Given the description of an element on the screen output the (x, y) to click on. 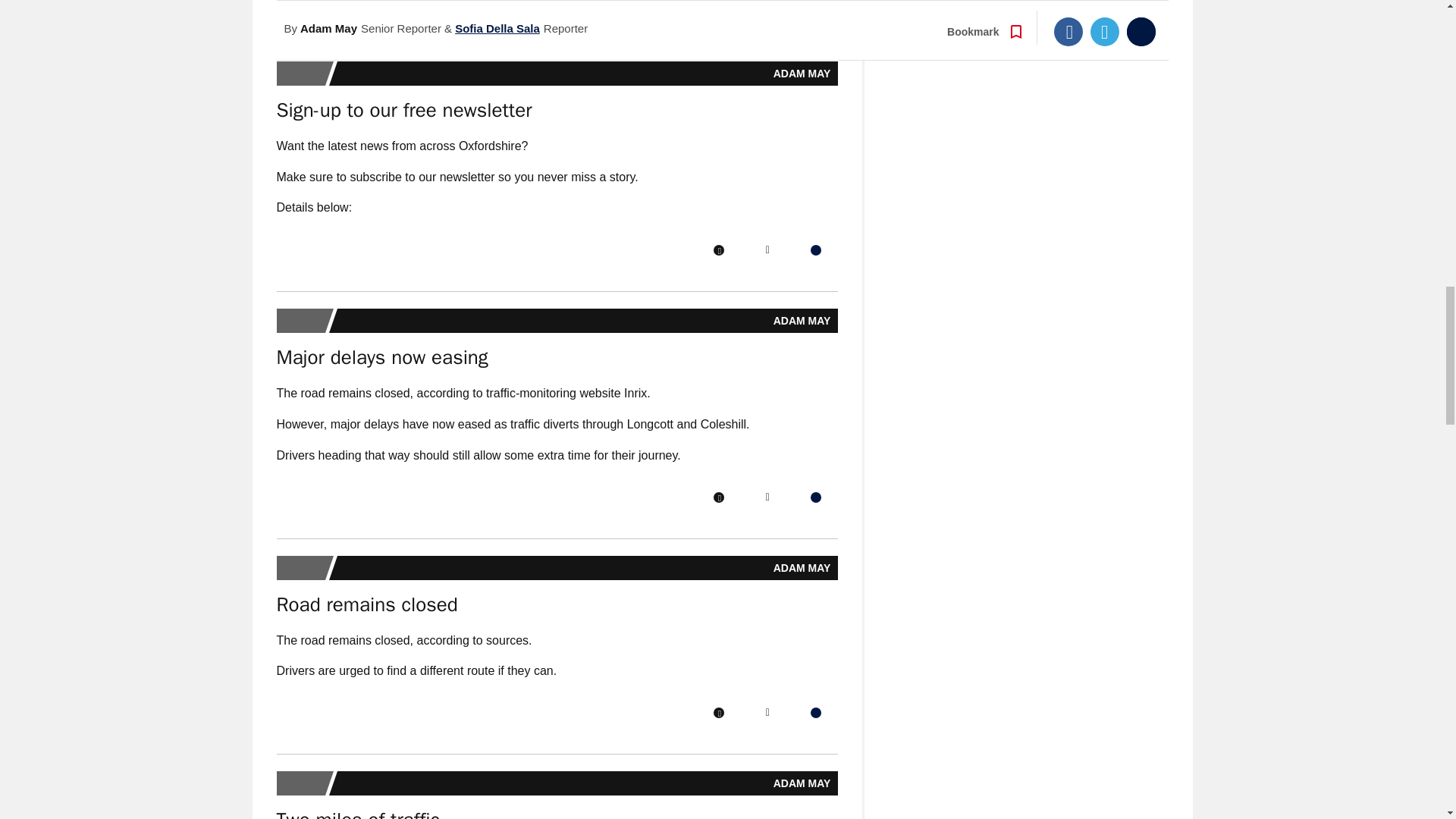
Twitter (767, 712)
Facebook (718, 497)
Facebook (718, 4)
Twitter (767, 497)
Twitter (767, 4)
Twitter (767, 249)
Facebook (718, 249)
Facebook (718, 712)
